Given the description of an element on the screen output the (x, y) to click on. 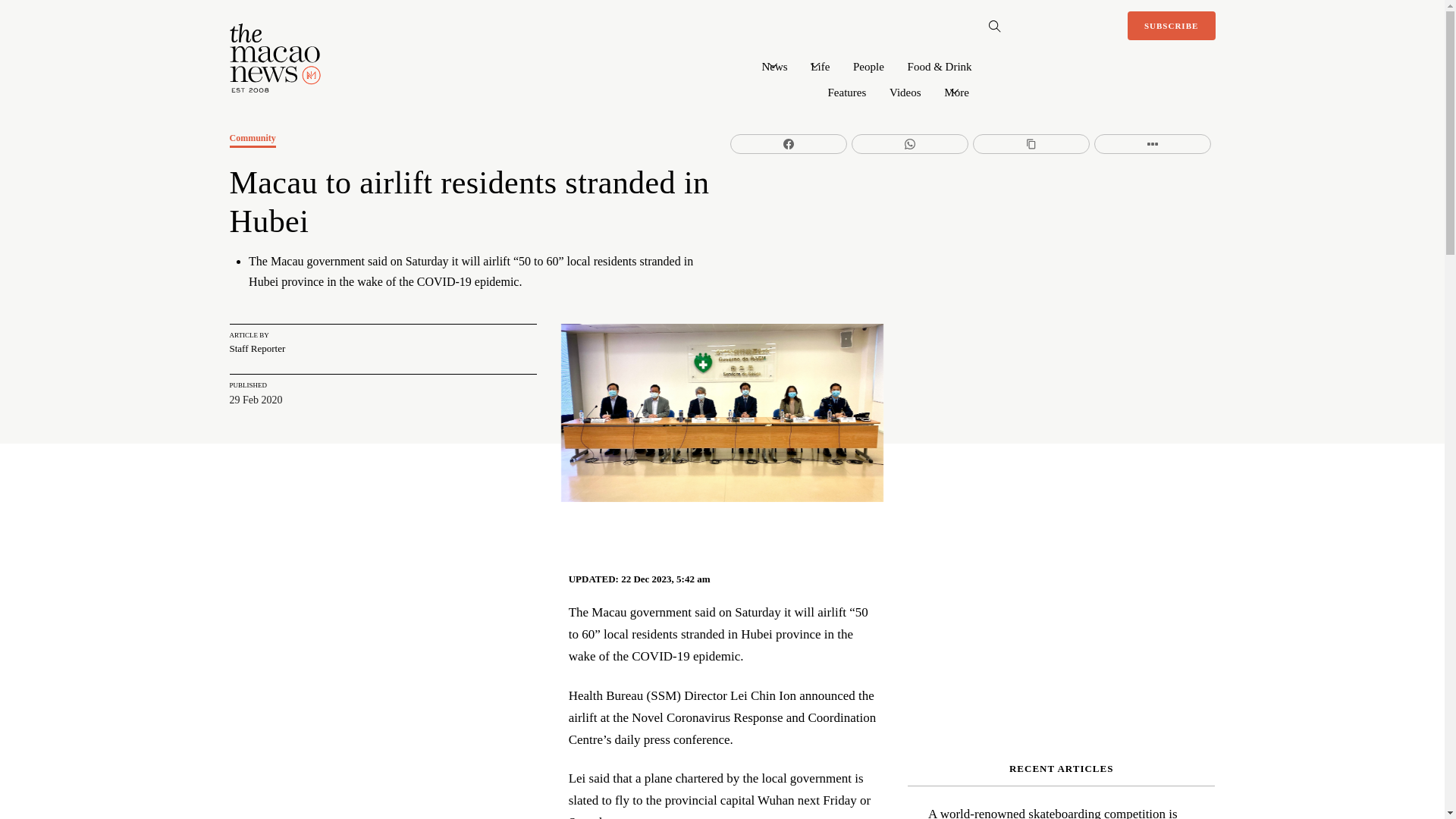
SUBSCRIBE (1170, 25)
News (774, 65)
Share on WhatsApp (909, 143)
Share on Copy Link (1030, 143)
Share on More Button (1152, 143)
2020.02.29 (721, 412)
Share on Facebook (788, 143)
